Given the description of an element on the screen output the (x, y) to click on. 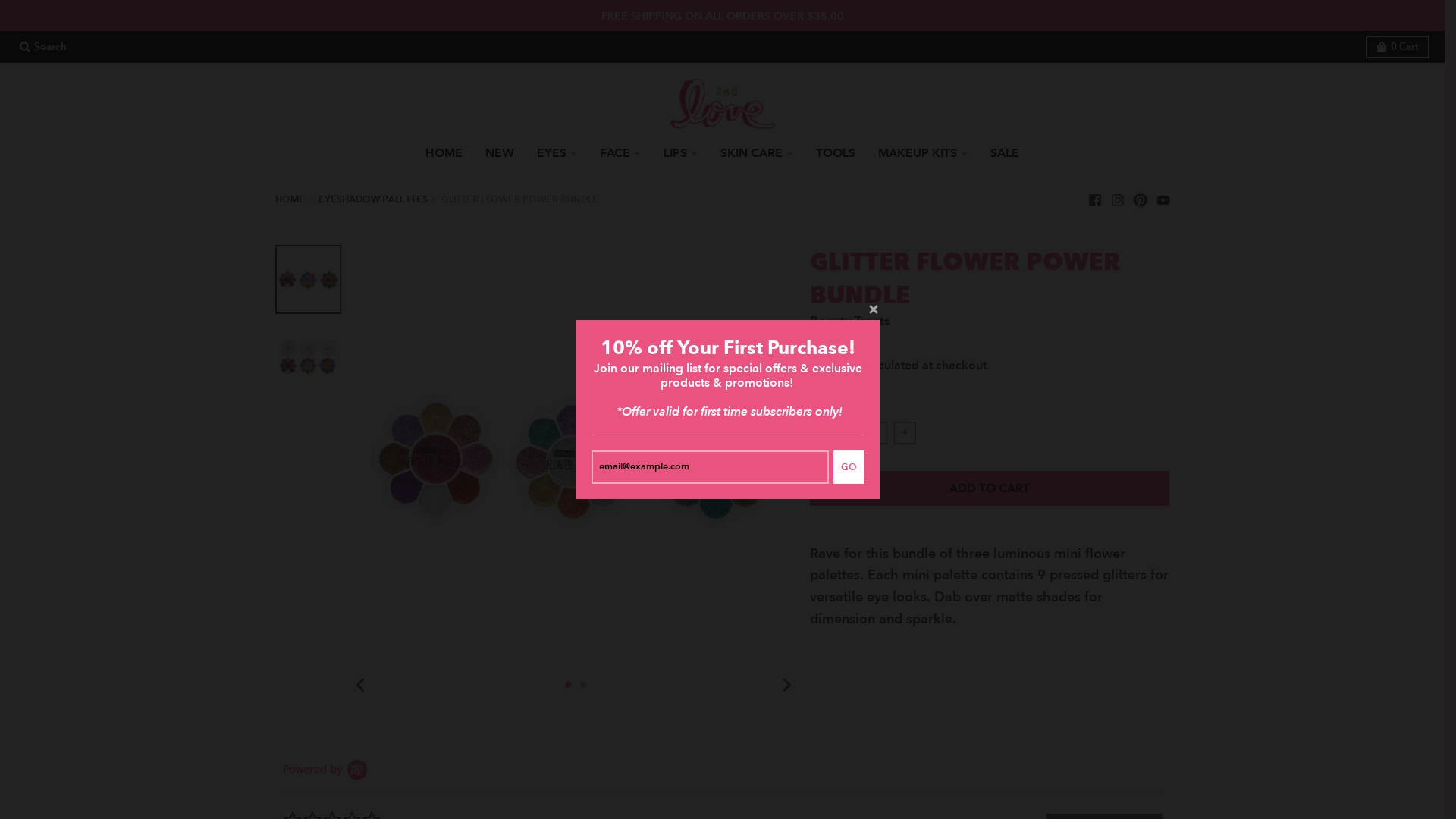
Pinterest - 2nd Love Cosmetics Element type: hover (1139, 198)
Instagram - 2nd Love Cosmetics Element type: hover (1116, 198)
EYES Element type: text (556, 152)
GO Element type: text (848, 466)
Beauty Treats Element type: text (849, 320)
EYESHADOW PALETTES Element type: text (372, 198)
+ Element type: text (904, 432)
NEW Element type: text (499, 152)
FACE Element type: text (619, 152)
0 Cart Element type: text (1397, 46)
Facebook - 2nd Love Cosmetics Element type: hover (1094, 198)
ADD TO CART Element type: text (989, 487)
HOME Element type: text (289, 198)
SKIN CARE Element type: text (756, 152)
- Element type: text (820, 432)
MAKEUP KITS Element type: text (922, 152)
HOME Element type: text (443, 152)
SALE Element type: text (1004, 152)
Shipping Element type: text (834, 364)
YouTube - 2nd Love Cosmetics Element type: hover (1162, 198)
TOOLS Element type: text (835, 152)
Search Element type: text (43, 46)
LIPS Element type: text (680, 152)
